Given the description of an element on the screen output the (x, y) to click on. 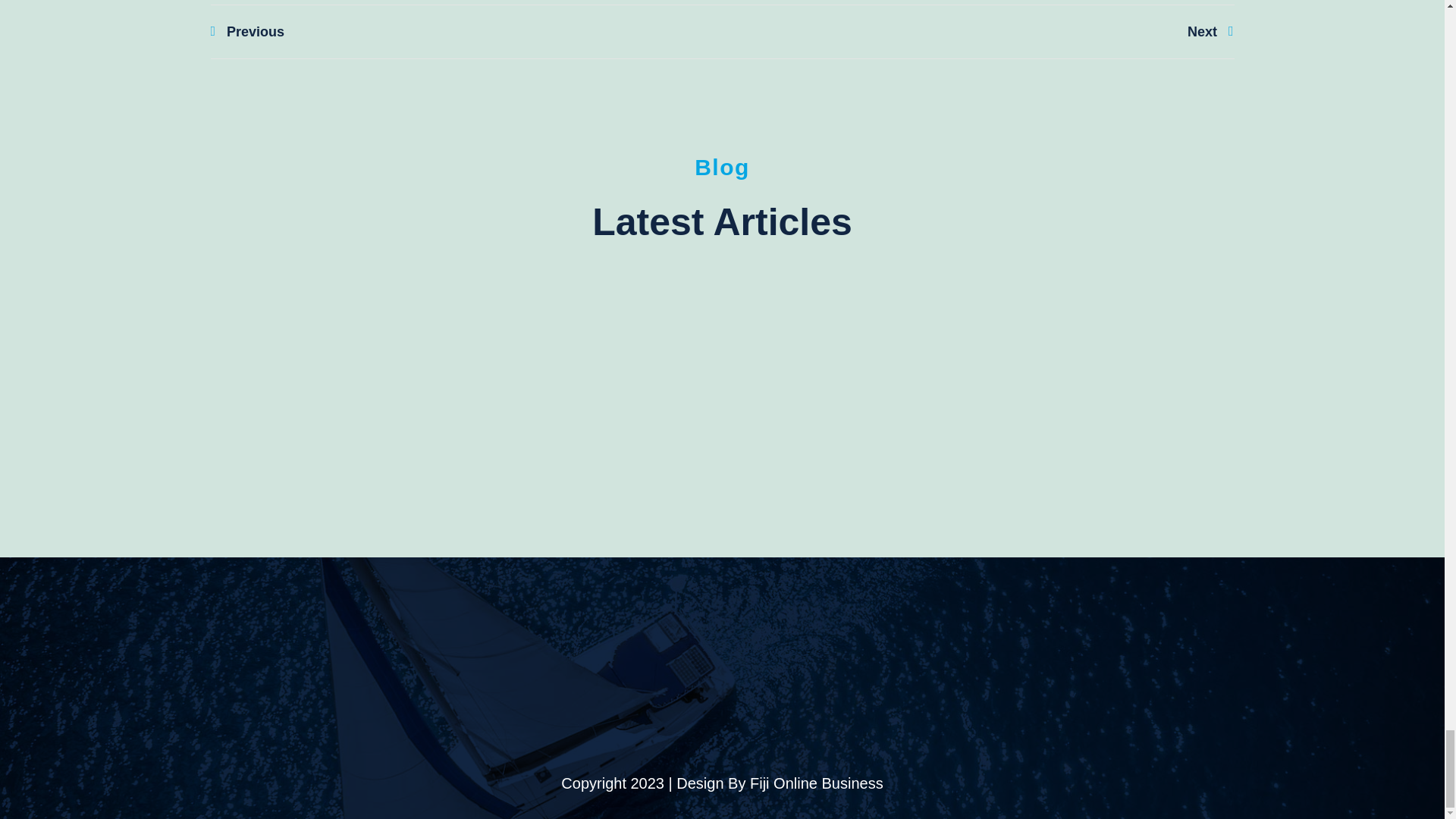
Next (977, 32)
Previous (466, 32)
Fiji Online Business (816, 782)
